Given the description of an element on the screen output the (x, y) to click on. 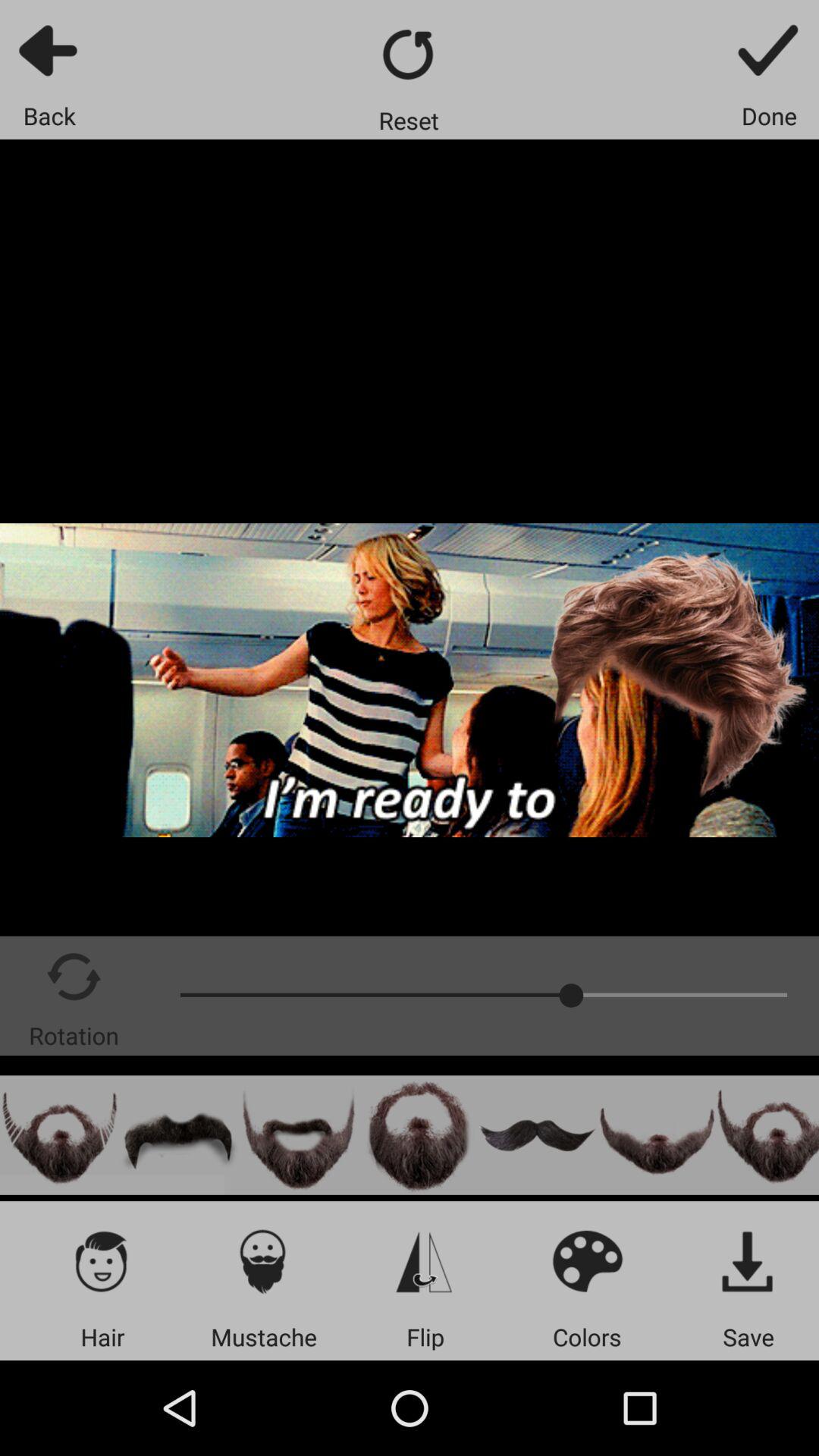
select facial hair (656, 1134)
